Given the description of an element on the screen output the (x, y) to click on. 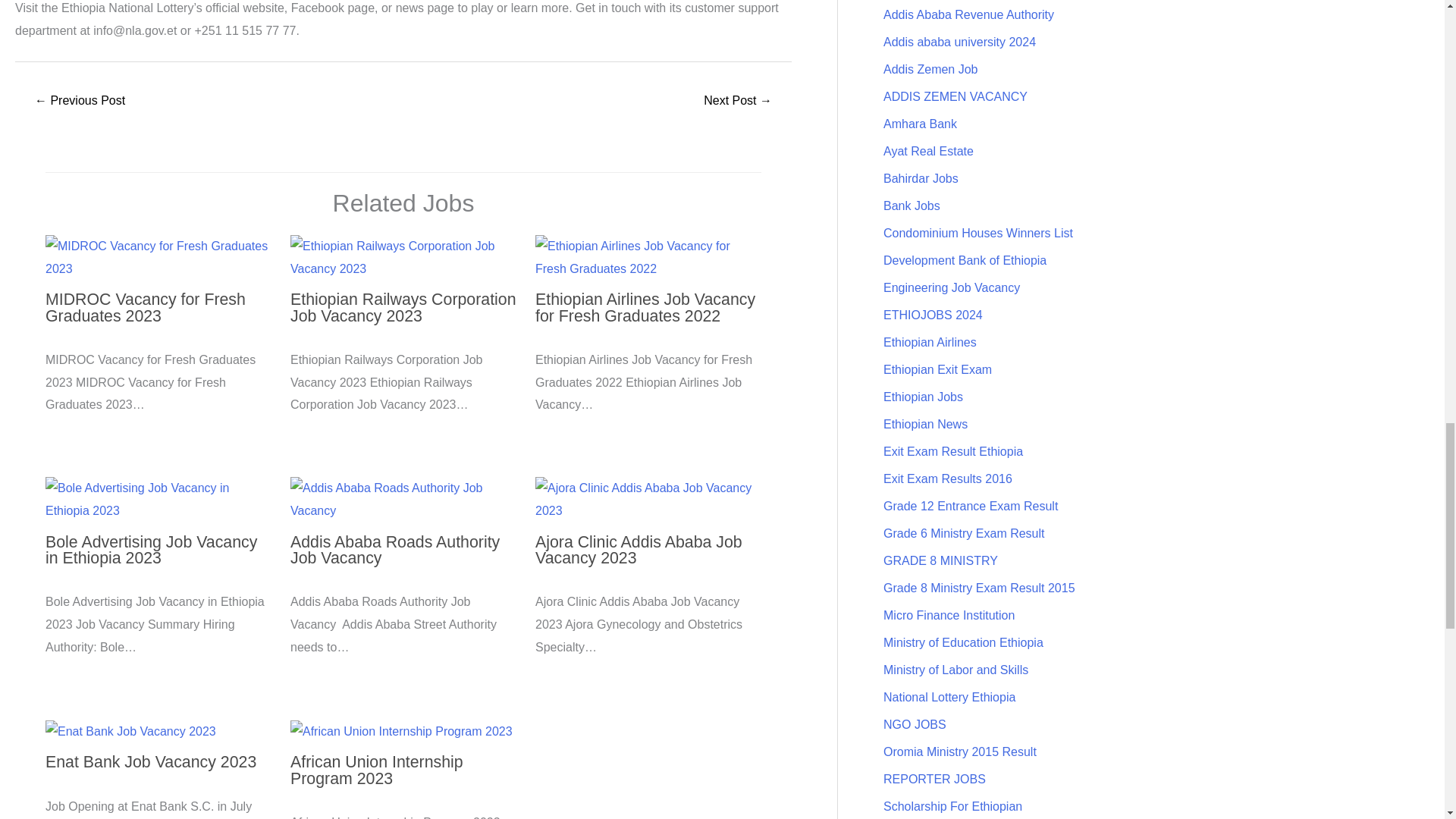
Ethiopian Railways Corporation Job Vacancy 2023 (402, 307)
Ethiopian Airlines Job Vacancy for Fresh Graduates 2022 (645, 307)
Tsehay Insurance SC Job Vacancy 2023 (79, 101)
Addis Ababa Roads Authority Job Vacancy  (394, 550)
Bole Advertising Job Vacancy in Ethiopia 2023 (151, 550)
Ajora Clinic Addis Ababa Job Vacancy 2023 (638, 550)
Wegagen Bank Job Vacancy for Fresh Graduates (737, 101)
MIDROC Vacancy for Fresh Graduates 2023 (145, 307)
